Given the description of an element on the screen output the (x, y) to click on. 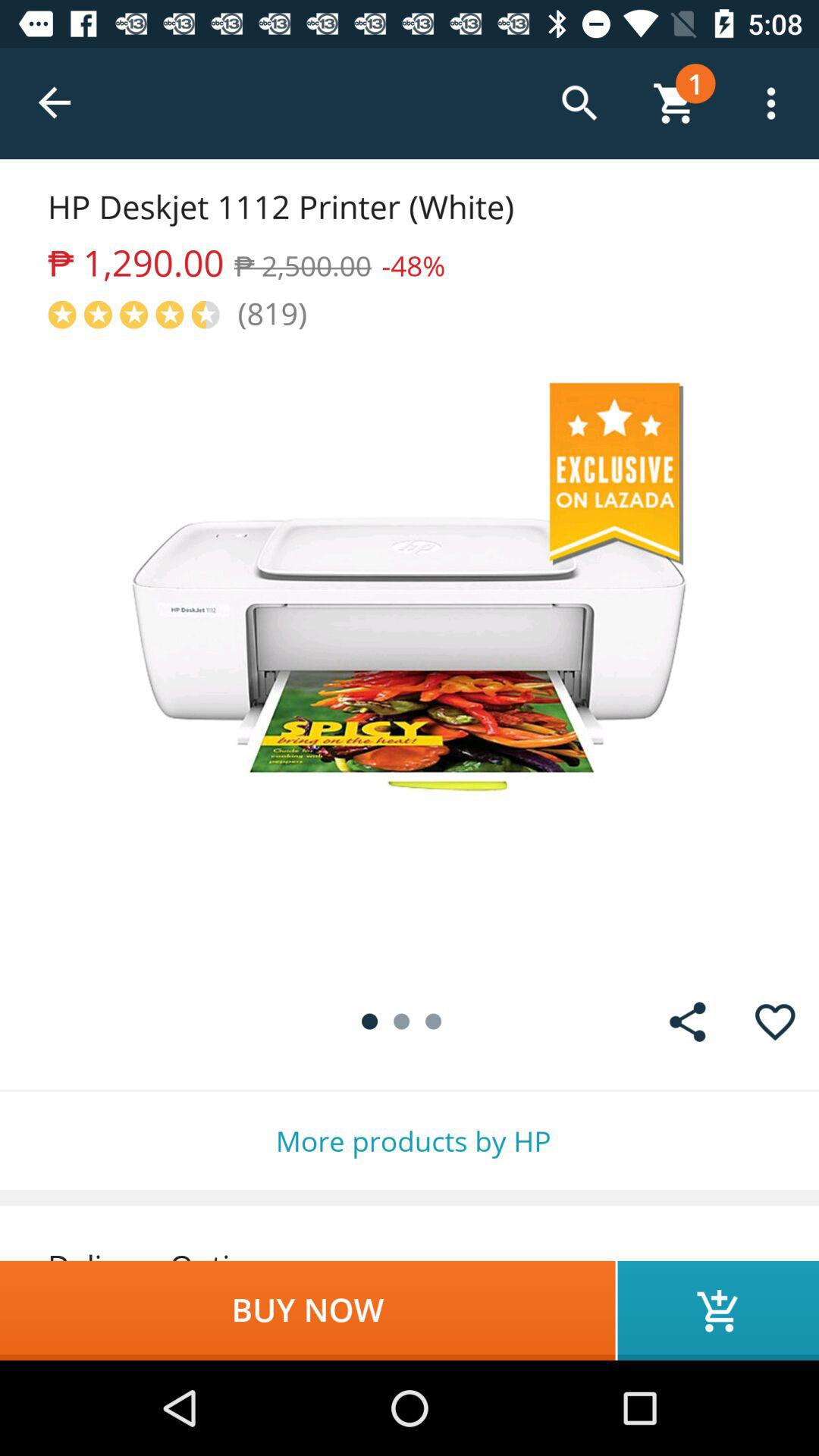
turn off the icon above hp deskjet 1112 (55, 103)
